Given the description of an element on the screen output the (x, y) to click on. 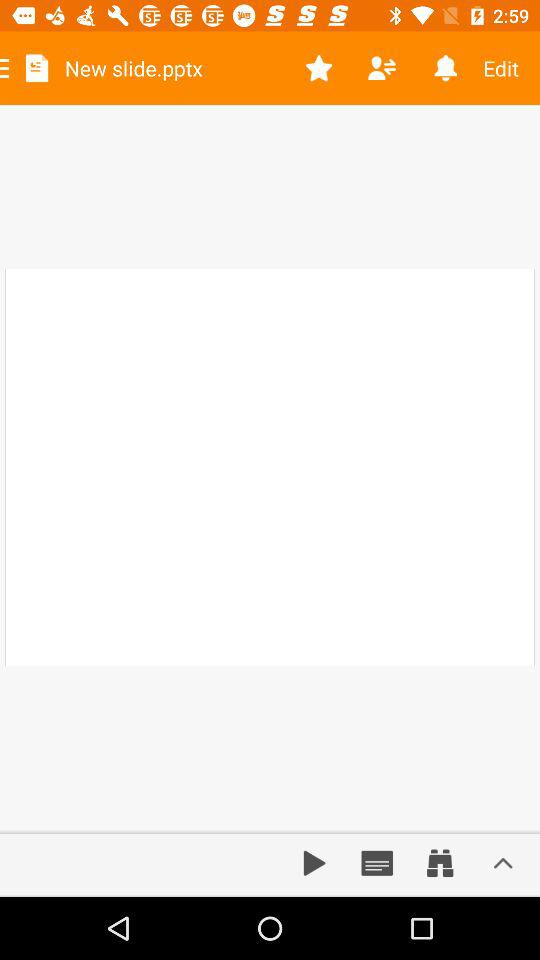
tap item next to edit (444, 68)
